Given the description of an element on the screen output the (x, y) to click on. 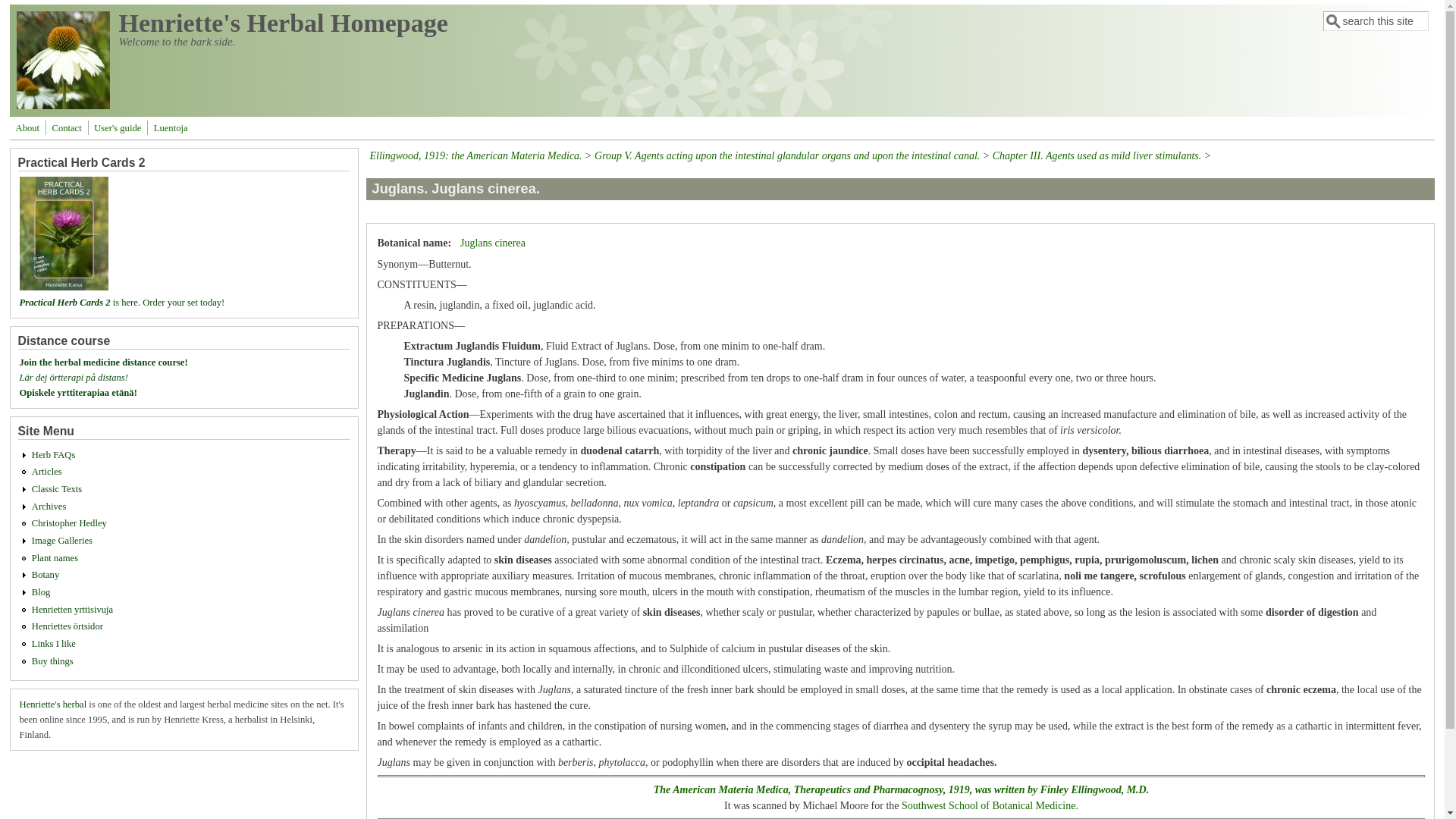
History of the site, author bio, etc. (27, 128)
Southwest School of Botanical Medicine. (989, 805)
About (27, 128)
Chapter III. Agents used as mild liver stimulants. (1096, 155)
Links I like (53, 643)
Henrietten yrttisivuja (72, 609)
Articles (47, 471)
Blog (41, 592)
Home (283, 22)
